Given the description of an element on the screen output the (x, y) to click on. 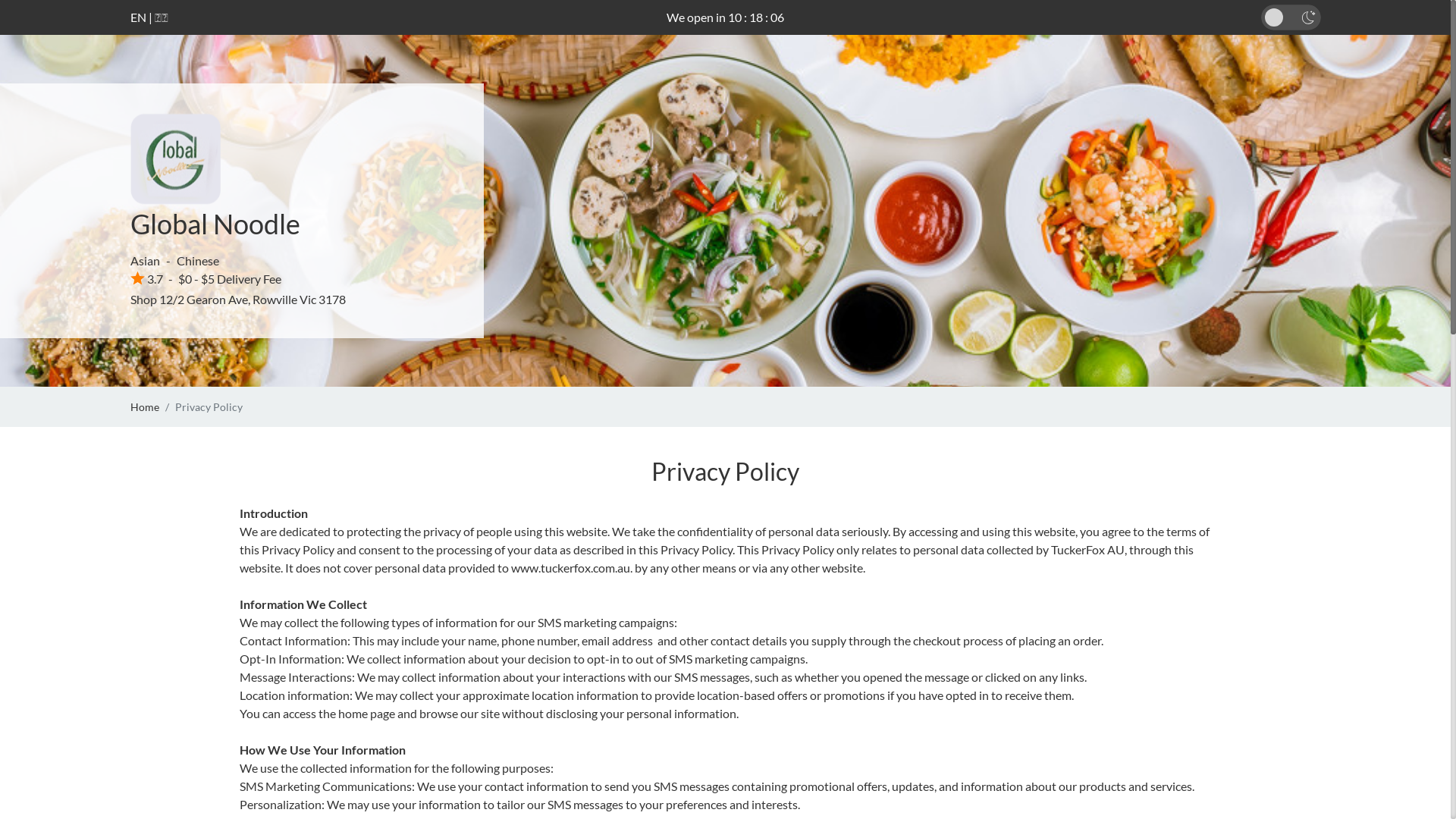
Global Noodle Element type: text (215, 223)
3.7 Element type: text (146, 278)
Home Element type: text (144, 406)
EN Element type: text (138, 16)
